Given the description of an element on the screen output the (x, y) to click on. 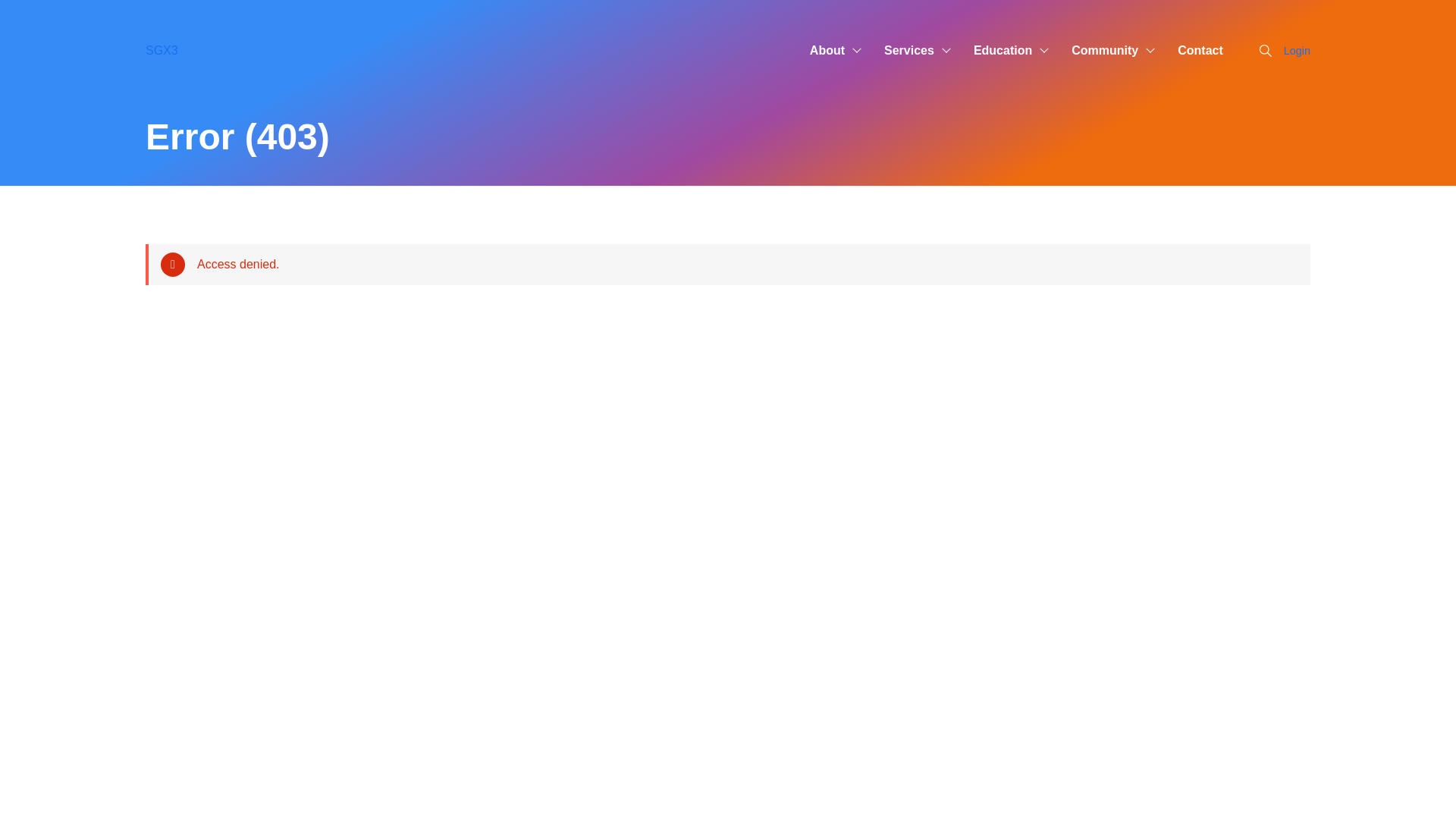
sciencegateways (173, 50)
Community (1103, 50)
Education (1001, 50)
SGX3 (173, 50)
Services (907, 50)
Contact (1200, 50)
Login (1297, 50)
Login (1297, 50)
About (825, 50)
